Given the description of an element on the screen output the (x, y) to click on. 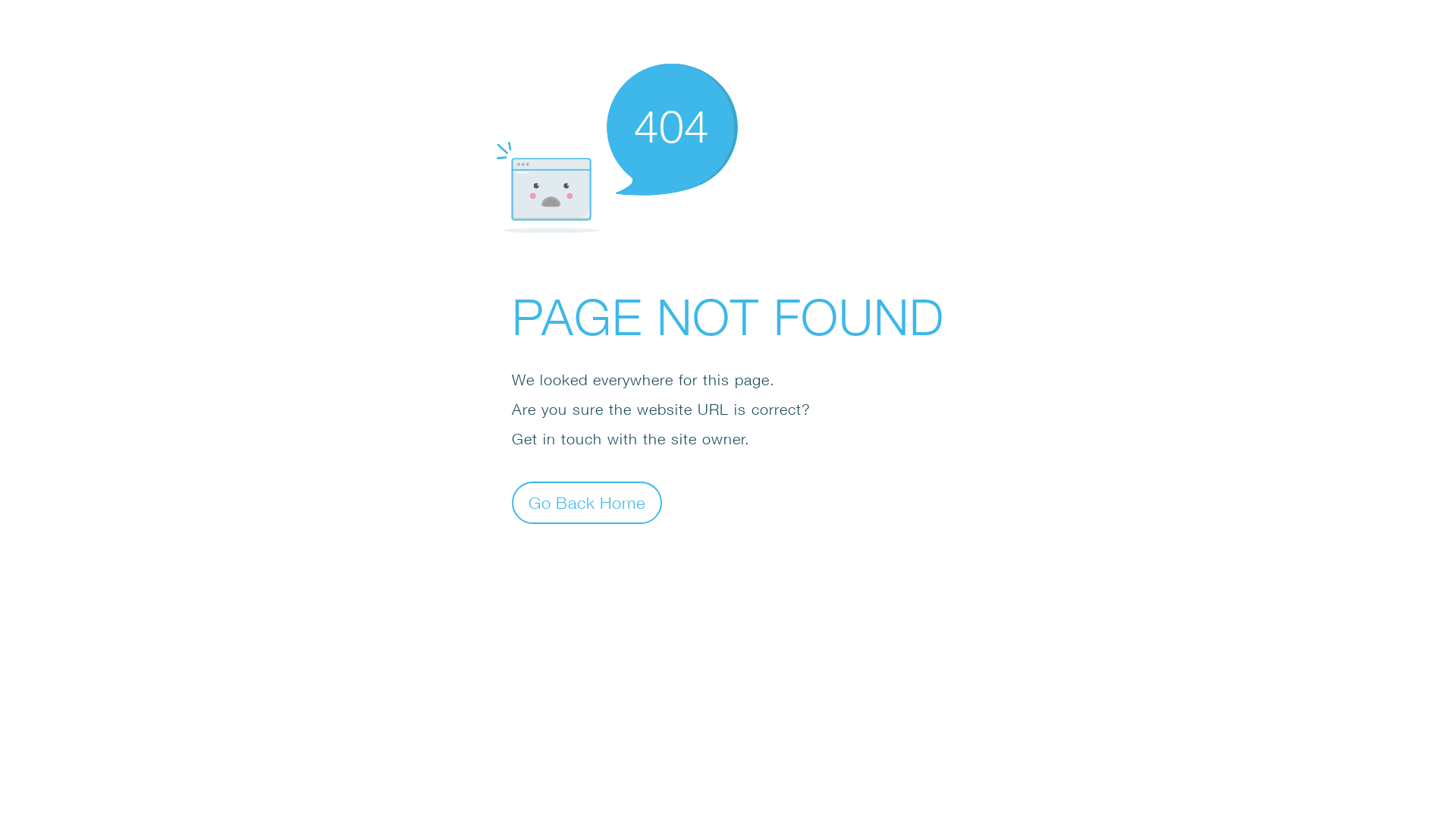
Go Back Home Element type: text (586, 502)
